Given the description of an element on the screen output the (x, y) to click on. 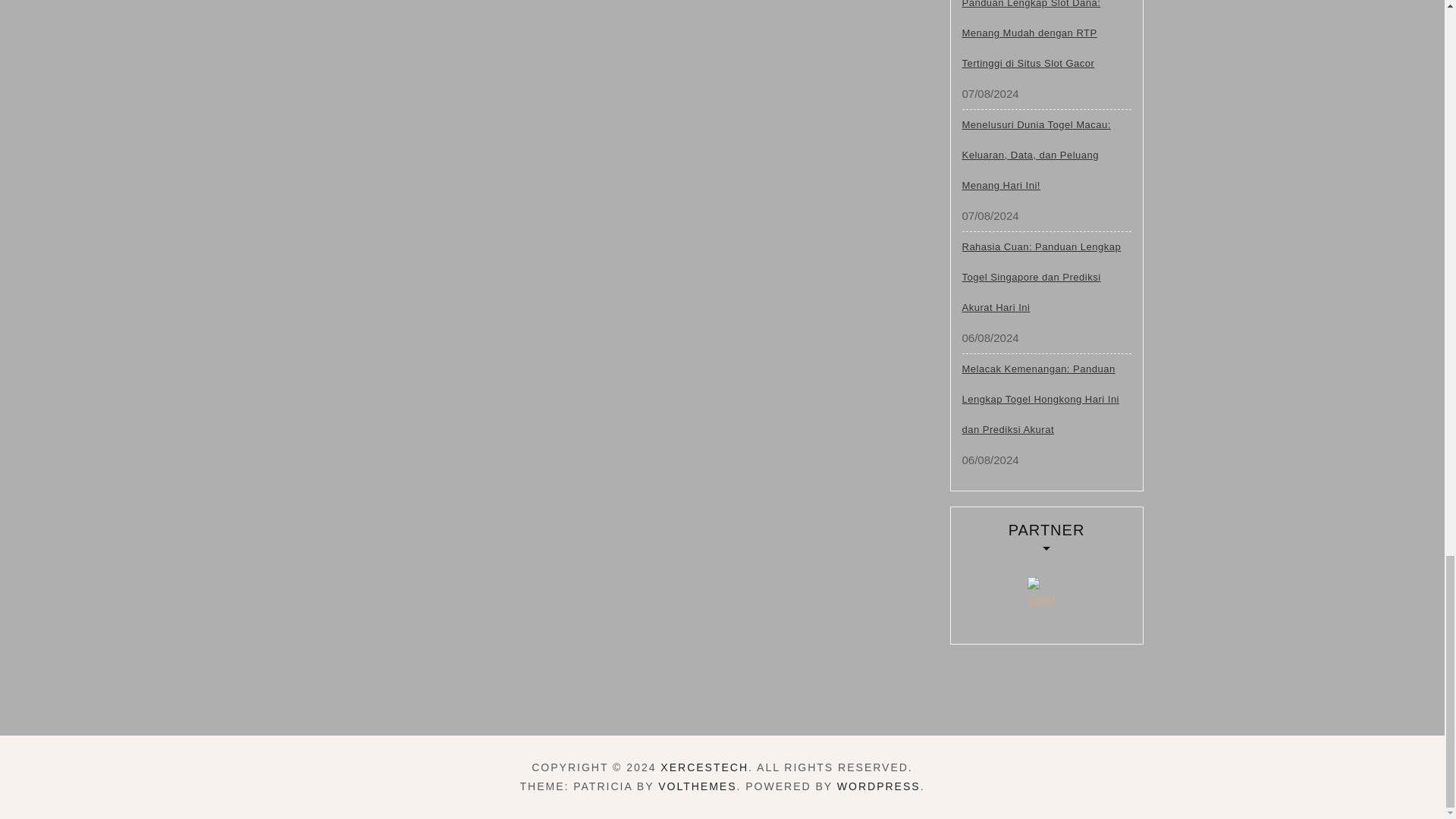
WordPress (878, 786)
Xercestech (704, 766)
VolThemes (697, 786)
Togel Hari Ini (1046, 595)
